Given the description of an element on the screen output the (x, y) to click on. 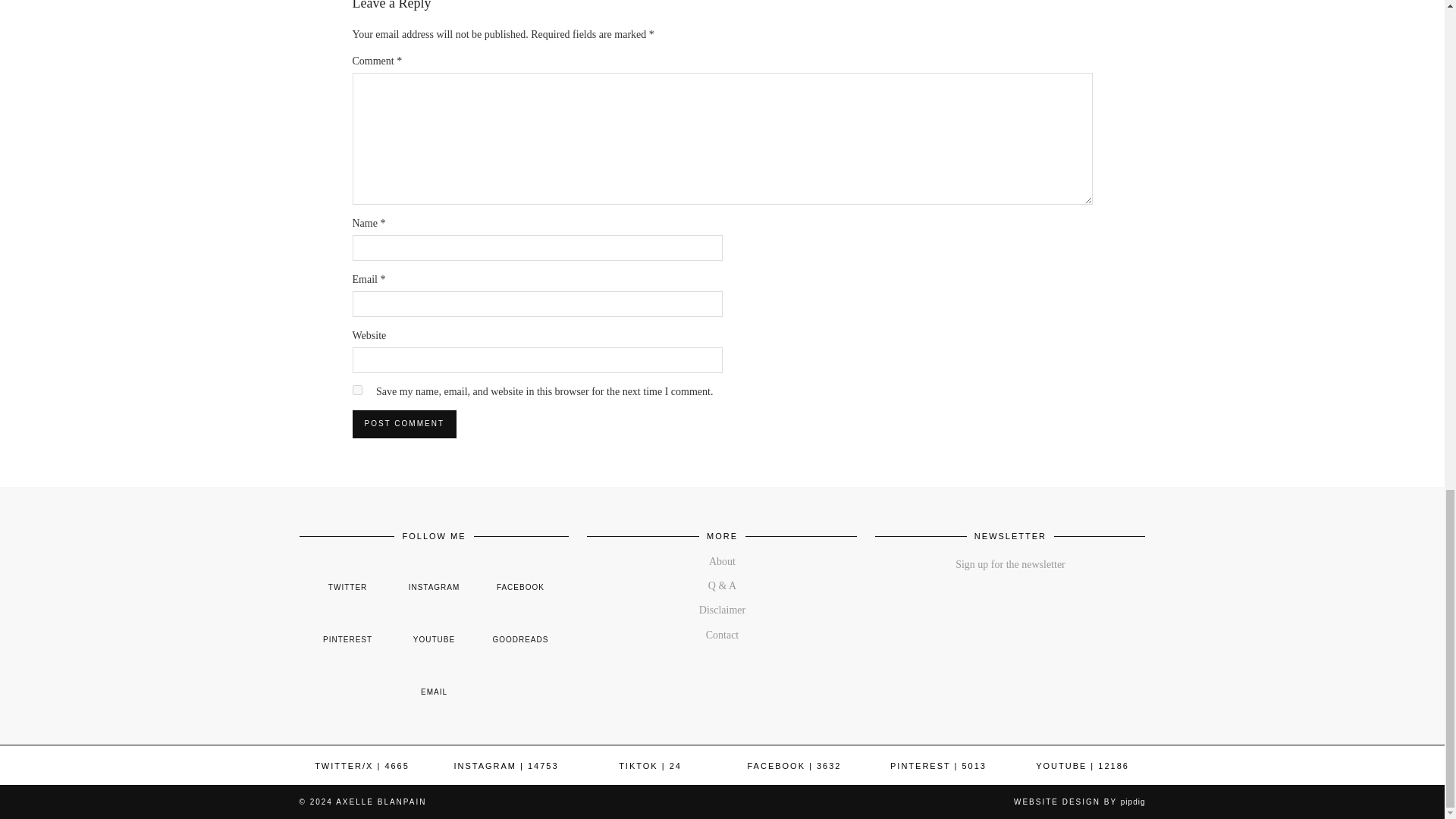
Instagram (504, 765)
TikTok (649, 765)
instagram (434, 575)
pinterest (347, 628)
Twitter (361, 765)
facebook (520, 575)
Facebook (794, 765)
yes (356, 389)
Post Comment (403, 423)
youtube (434, 628)
